Given the description of an element on the screen output the (x, y) to click on. 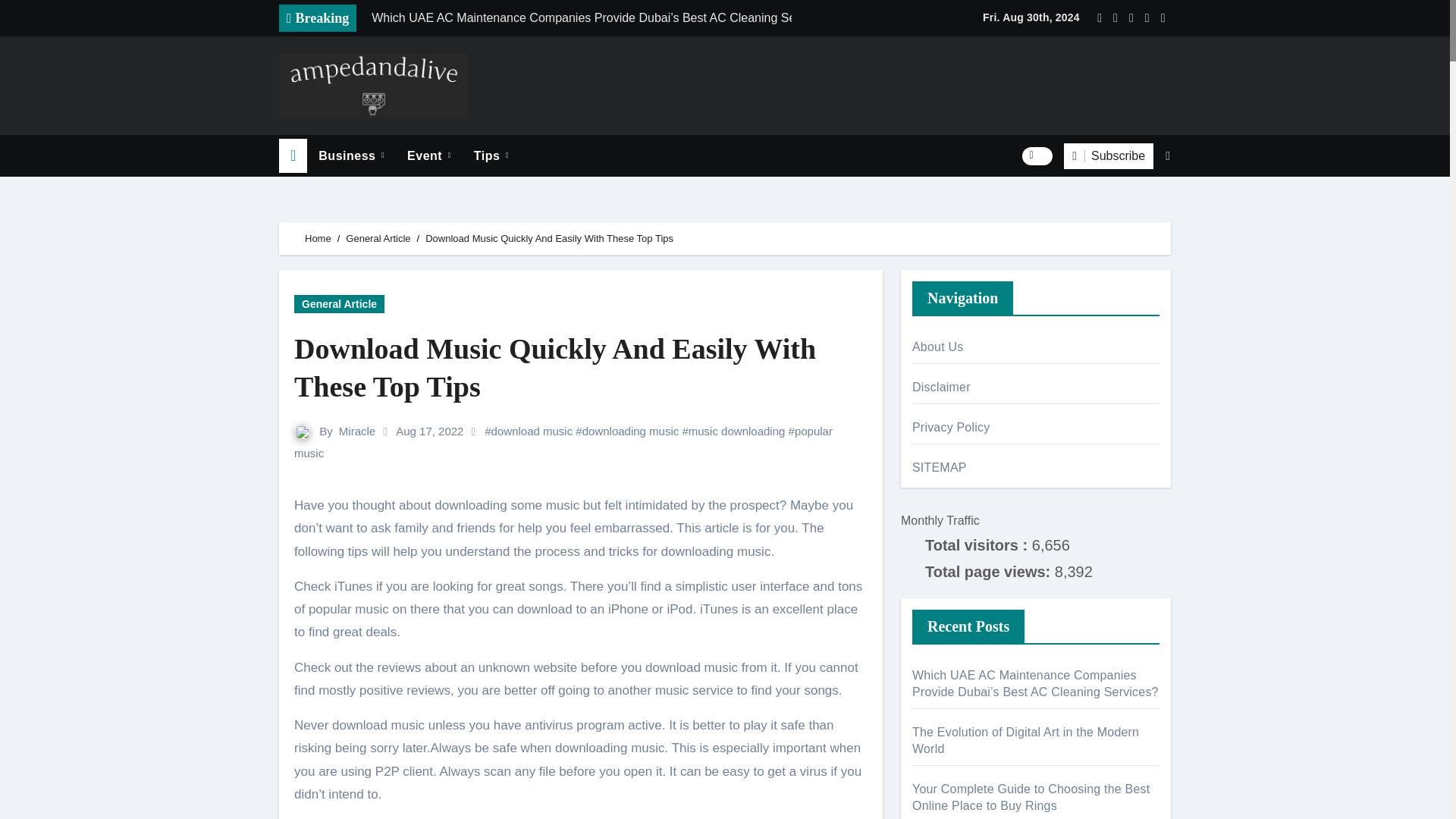
Download Music Quickly And Easily With These Top Tips (580, 367)
Business (351, 155)
Event (429, 155)
Tips (491, 155)
